Given the description of an element on the screen output the (x, y) to click on. 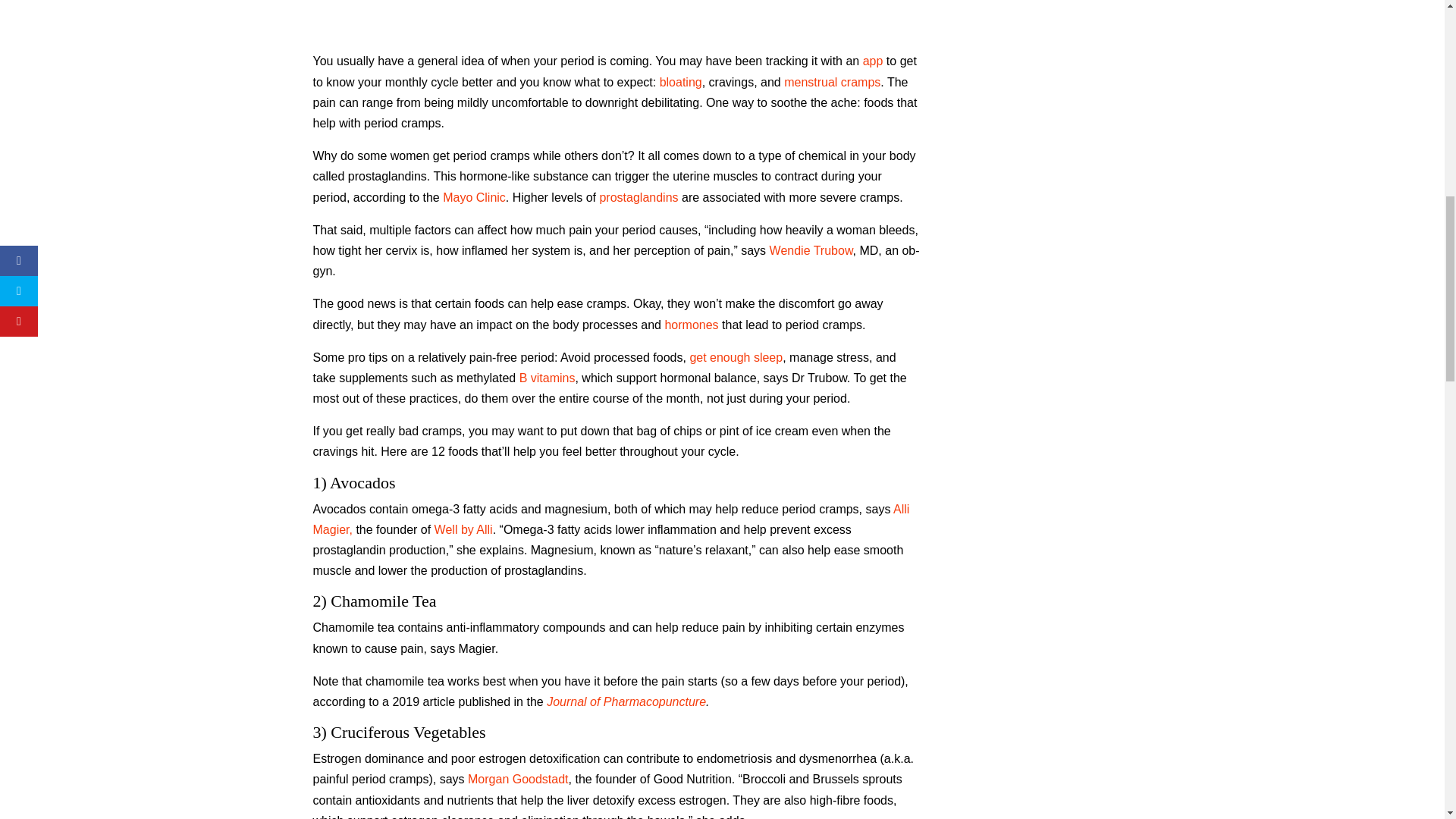
period pains food (616, 19)
